Given the description of an element on the screen output the (x, y) to click on. 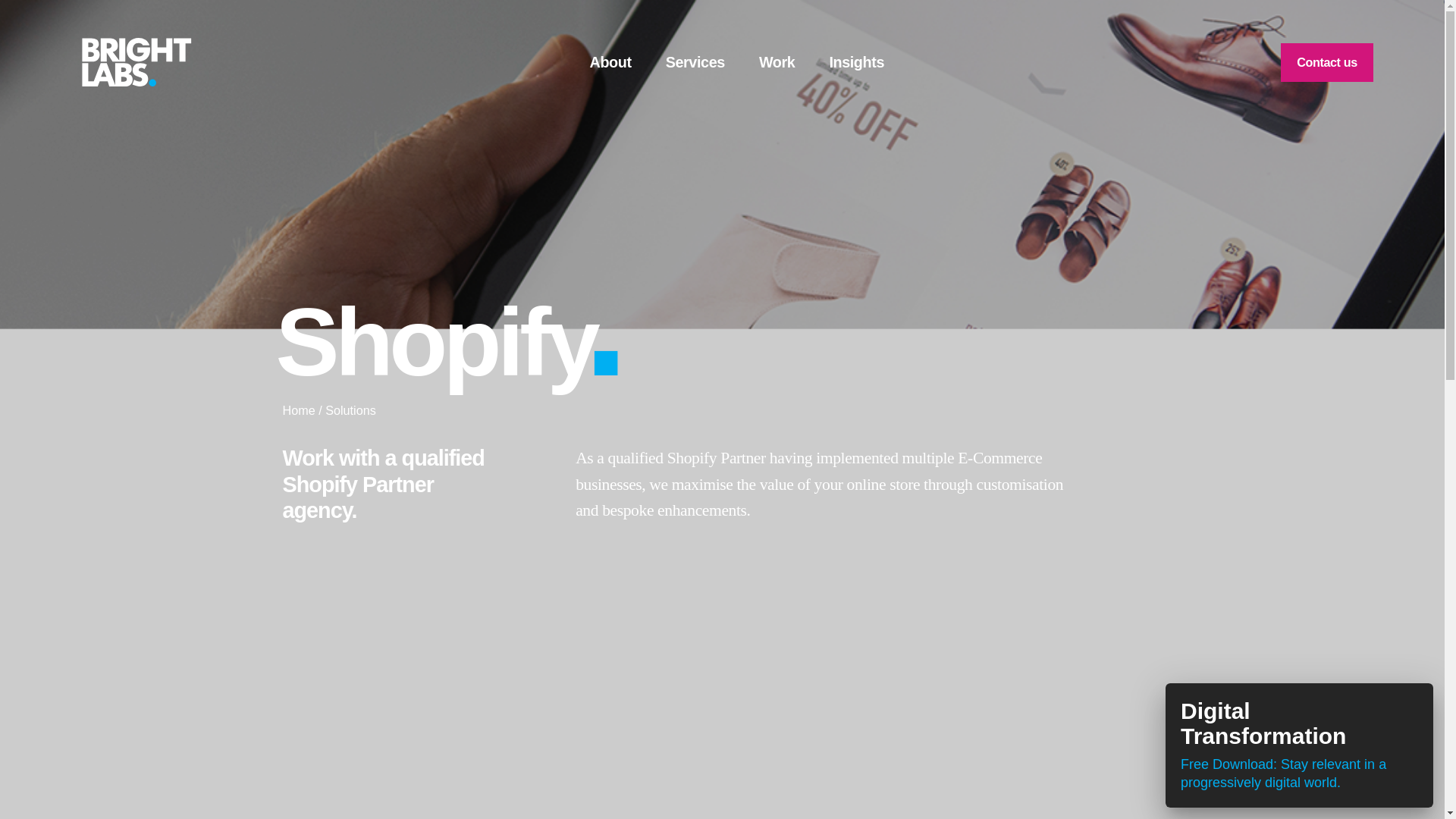
About (610, 62)
About (610, 62)
Insights (855, 62)
Home (298, 409)
Contact us (1327, 62)
Services (695, 62)
Services (695, 62)
Work (776, 62)
Solutions (349, 409)
